Given the description of an element on the screen output the (x, y) to click on. 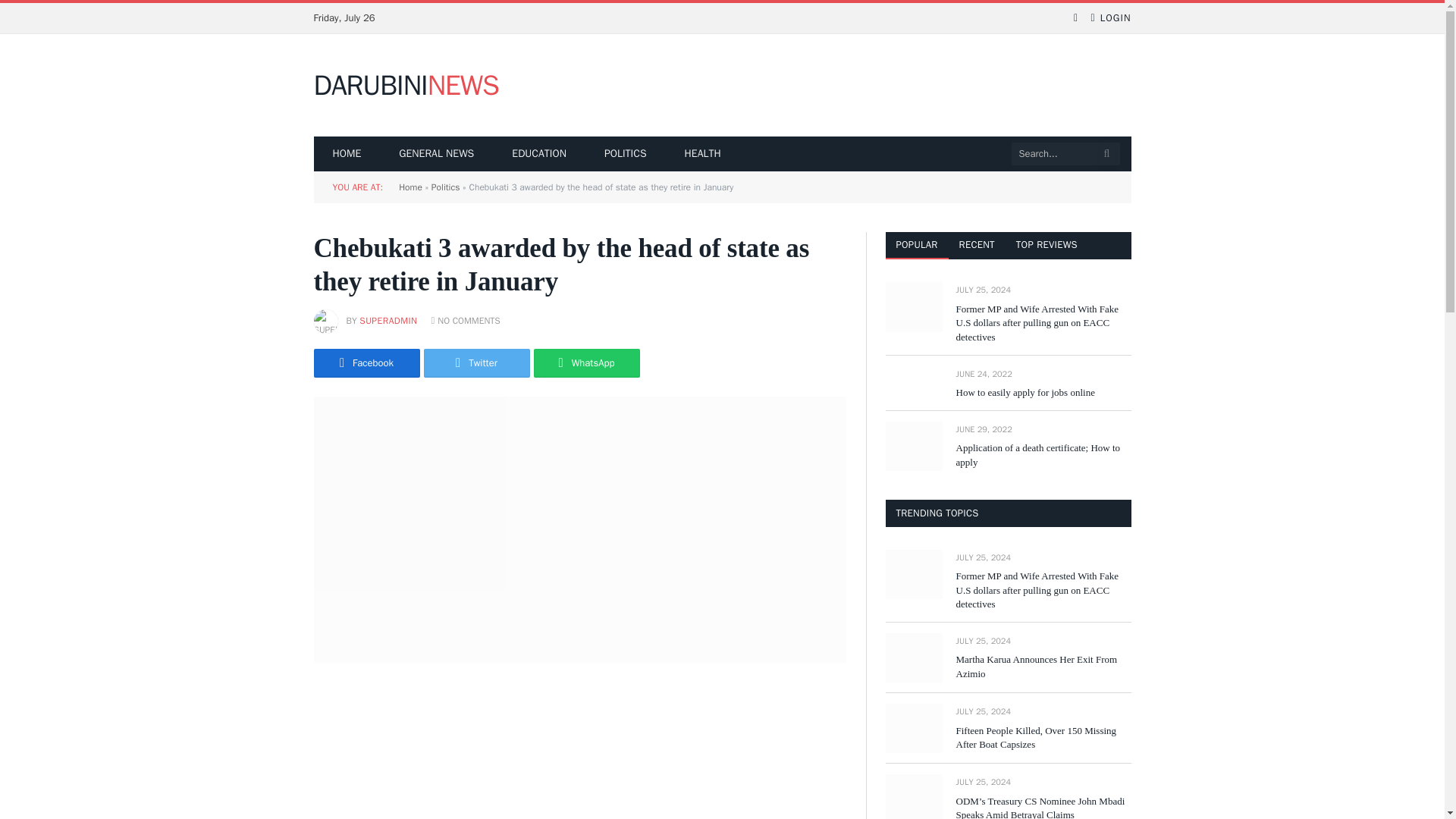
NO COMMENTS (465, 320)
GENERAL NEWS (436, 153)
Share on WhatsApp (587, 362)
Twitter (476, 362)
Home (406, 85)
EDUCATION (410, 186)
Politics (539, 153)
POLITICS (445, 186)
Share on Twitter (625, 153)
Facebook (476, 362)
HOME (367, 362)
Posts by SuperAdmin (347, 153)
Share on Facebook (387, 320)
